Given the description of an element on the screen output the (x, y) to click on. 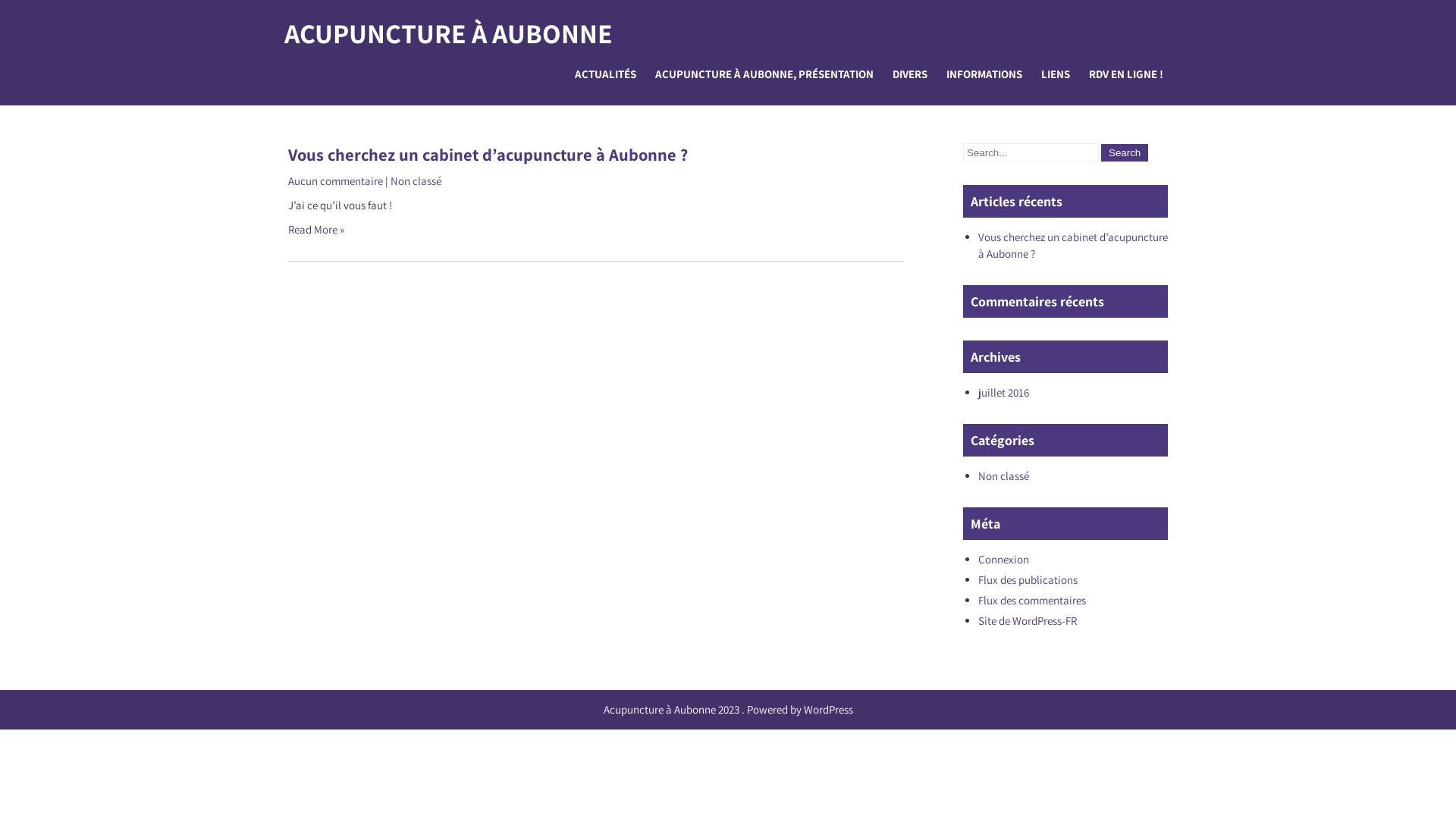
Connexion Element type: text (1003, 559)
INFORMATIONS Element type: text (984, 73)
LIENS Element type: text (1055, 73)
Aucun commentaire Element type: text (335, 180)
Flux des publications Element type: text (1027, 579)
Search Element type: text (1124, 152)
juillet 2016 Element type: text (1003, 392)
RDV EN LIGNE ! Element type: text (1125, 73)
Site de WordPress-FR Element type: text (1027, 620)
Flux des commentaires Element type: text (1031, 600)
DIVERS Element type: text (909, 73)
